Given the description of an element on the screen output the (x, y) to click on. 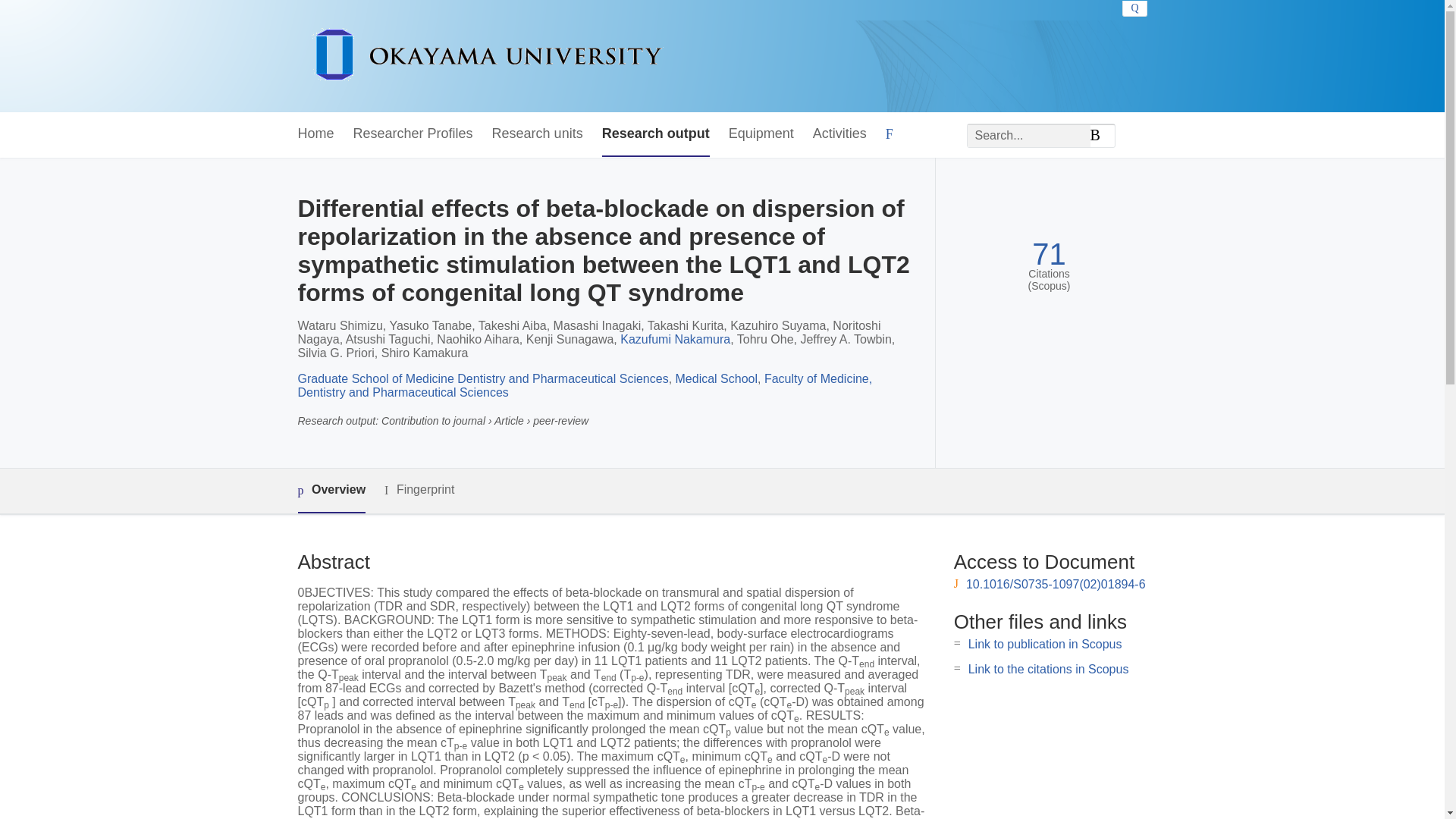
71 (1048, 253)
Research output (656, 134)
Faculty of Medicine, Dentistry and Pharmaceutical Sciences (584, 385)
Activities (839, 134)
Link to the citations in Scopus (1048, 668)
Kazufumi Nakamura (675, 338)
Link to publication in Scopus (1045, 644)
Medical School (716, 378)
Overview (331, 490)
Equipment (761, 134)
Researcher Profiles (413, 134)
Okayama University Home (487, 55)
Fingerprint (419, 489)
